Given the description of an element on the screen output the (x, y) to click on. 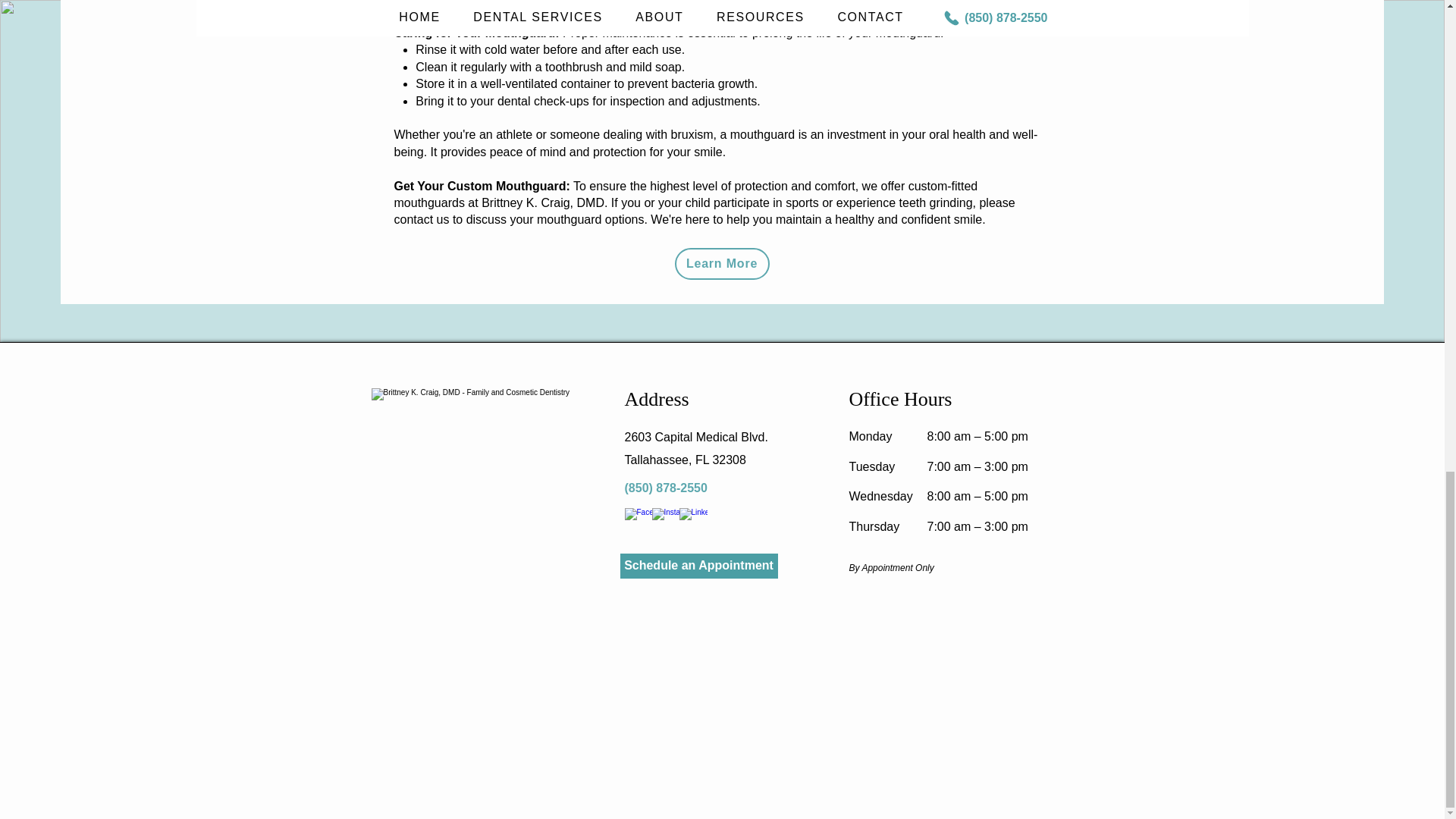
Learn More (722, 264)
Schedule an Appointment (698, 565)
